Given the description of an element on the screen output the (x, y) to click on. 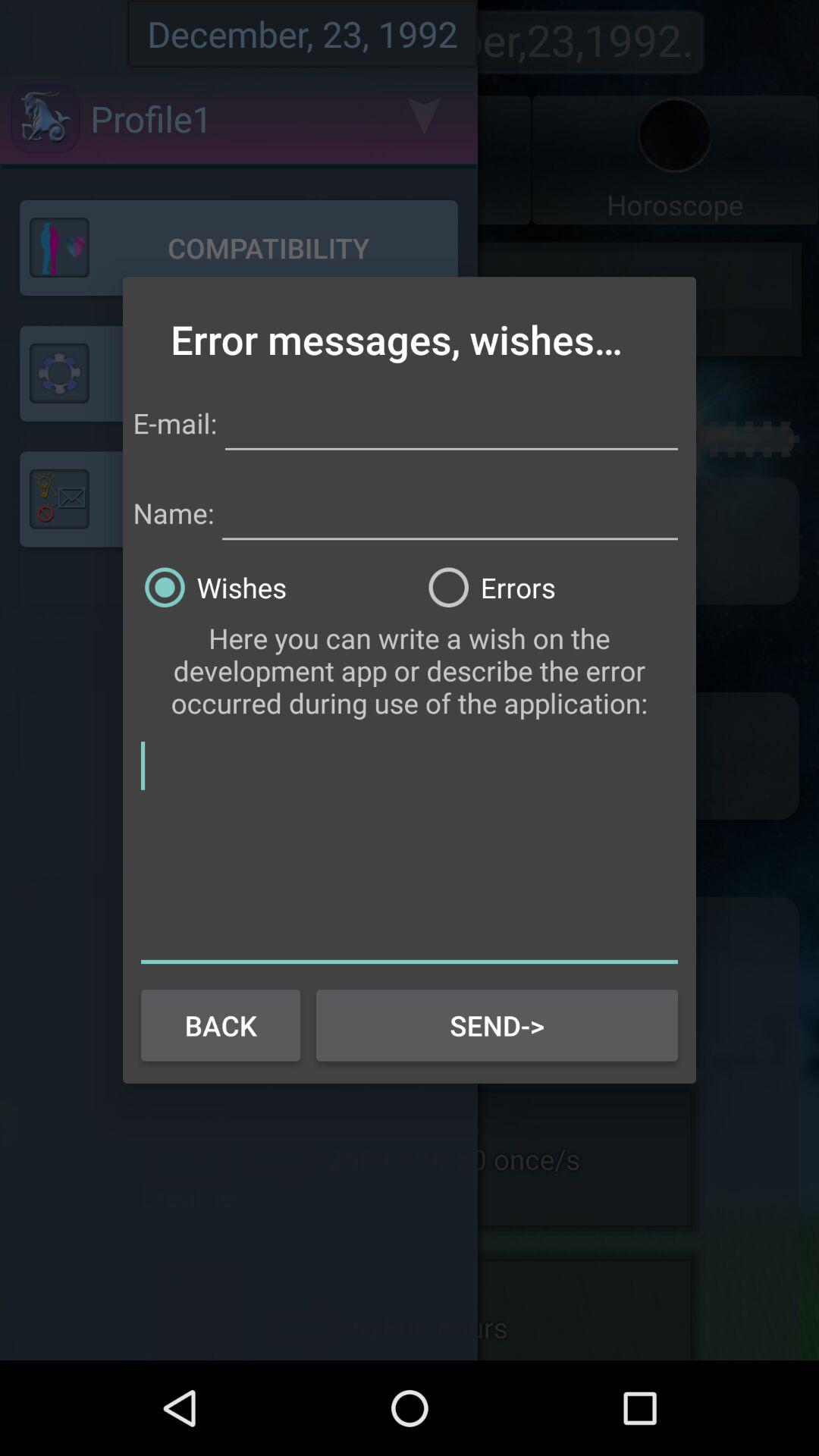
input name (449, 510)
